Given the description of an element on the screen output the (x, y) to click on. 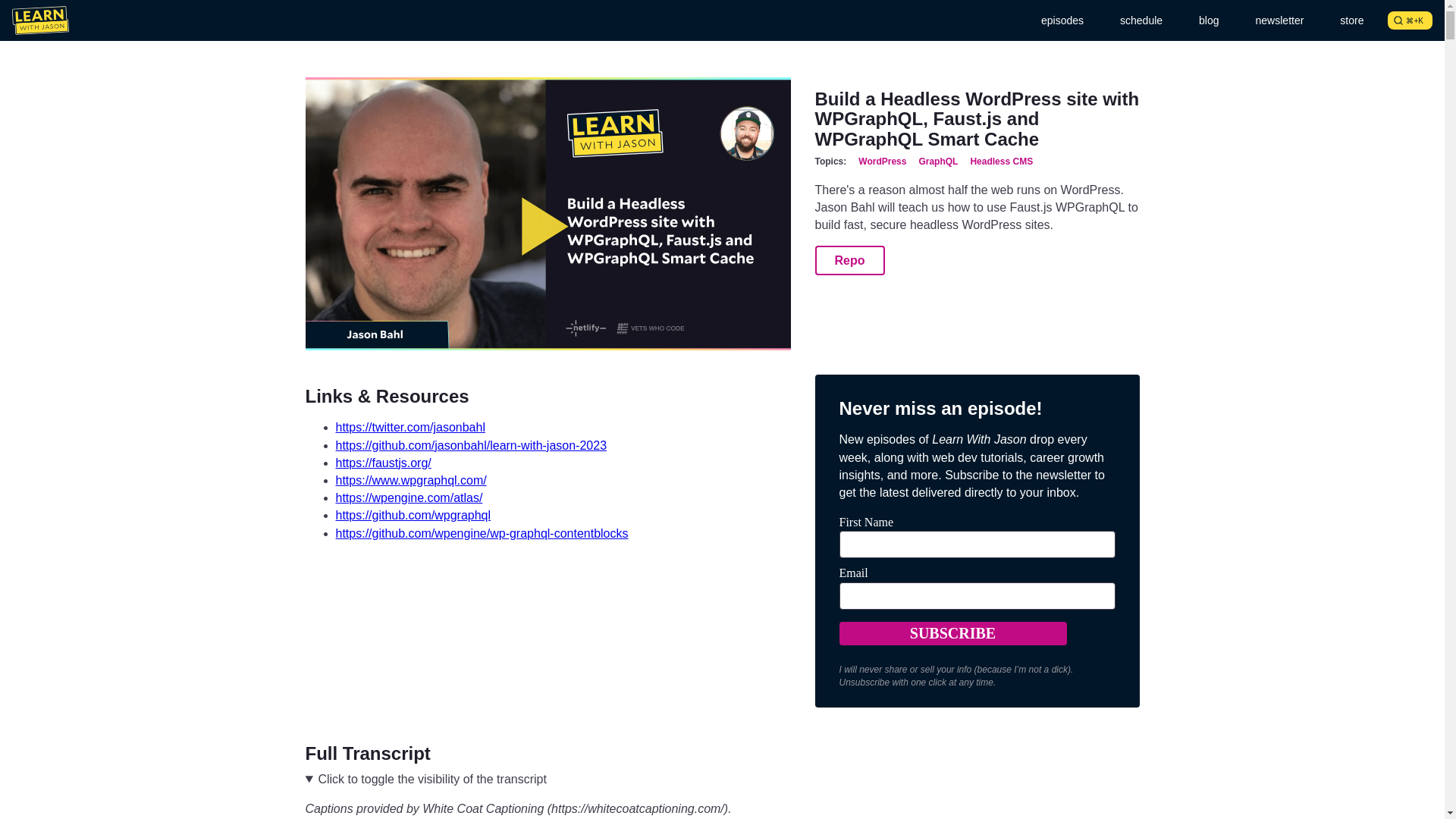
episodes (1062, 20)
newsletter (1279, 20)
store (1351, 20)
WordPress (882, 161)
Repo (848, 260)
home (39, 20)
GraphQL (938, 161)
SUBSCRIBE (951, 633)
Headless CMS (1000, 161)
